Given the description of an element on the screen output the (x, y) to click on. 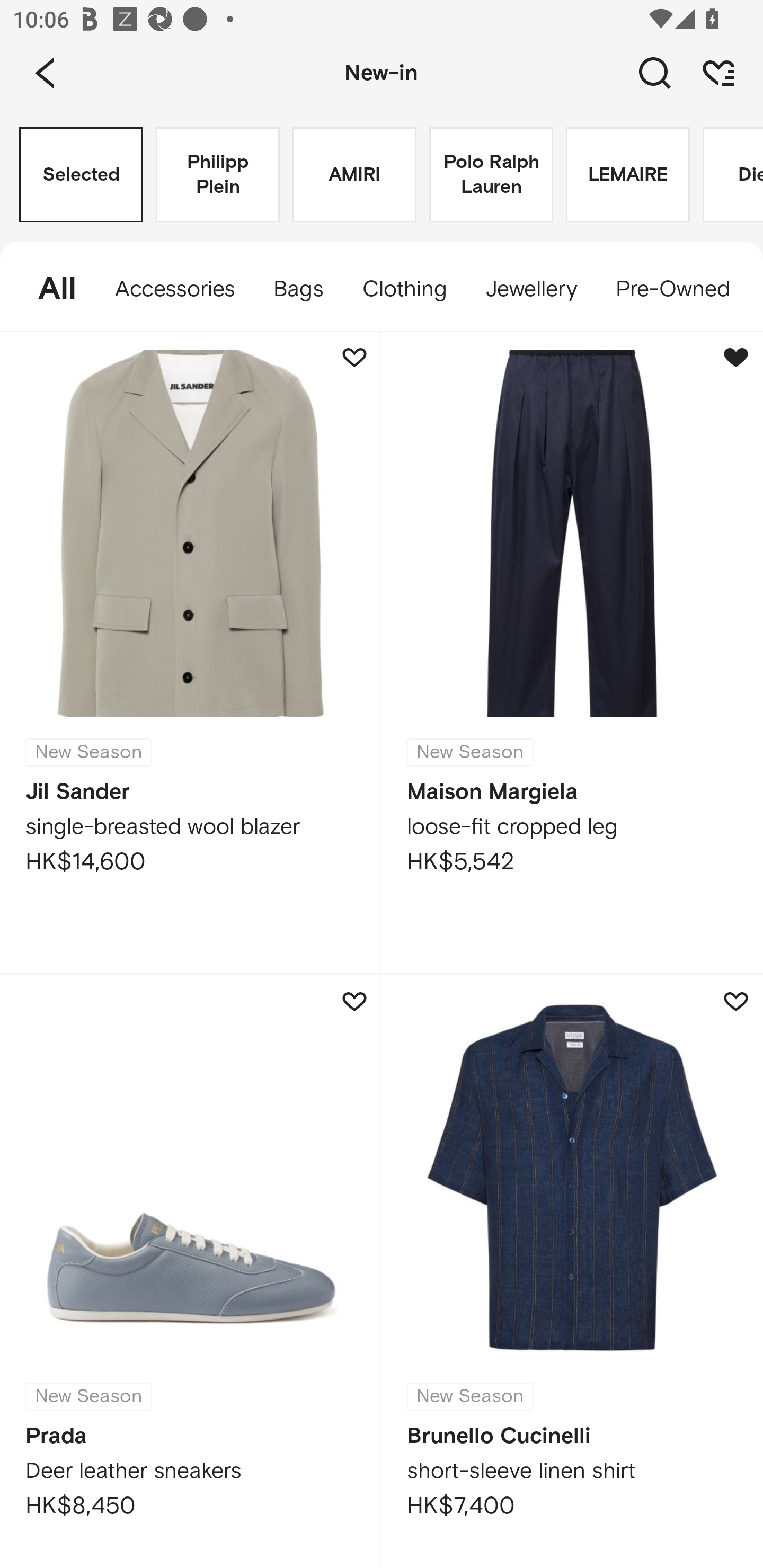
Selected (81, 174)
Philipp Plein (217, 174)
AMIRI (354, 174)
Polo Ralph Lauren (490, 174)
LEMAIRE (627, 174)
All (47, 289)
Accessories (174, 289)
Bags (298, 289)
Clothing (403, 289)
Jewellery (530, 289)
Pre-Owned (671, 289)
New Season Prada Deer leather sneakers HK$8,450 (190, 1271)
